Given the description of an element on the screen output the (x, y) to click on. 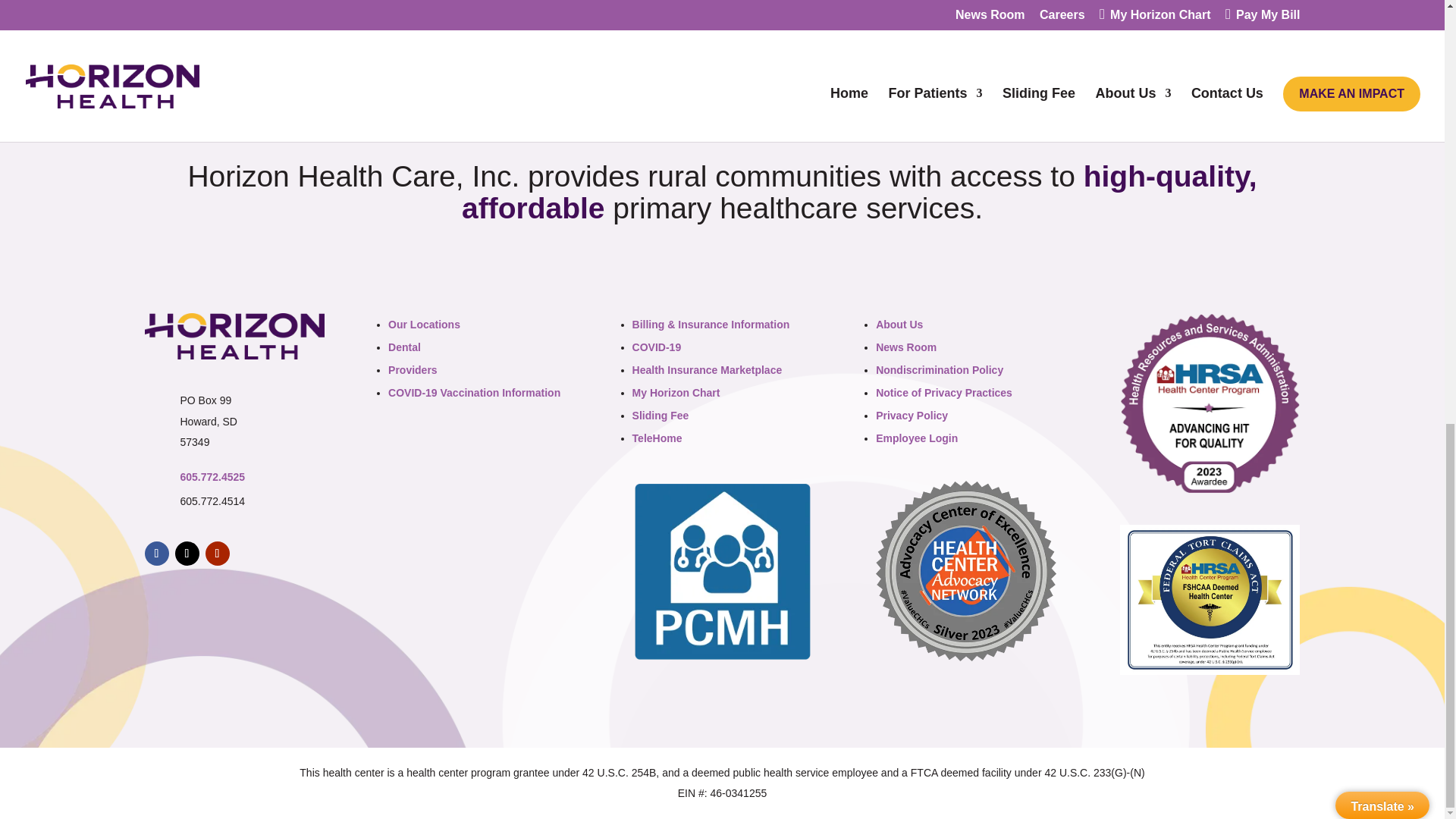
Follow on Youtube (216, 553)
Follow on Facebook (156, 553)
HorizonHealthcare (234, 335)
Follow on X (186, 553)
